Given the description of an element on the screen output the (x, y) to click on. 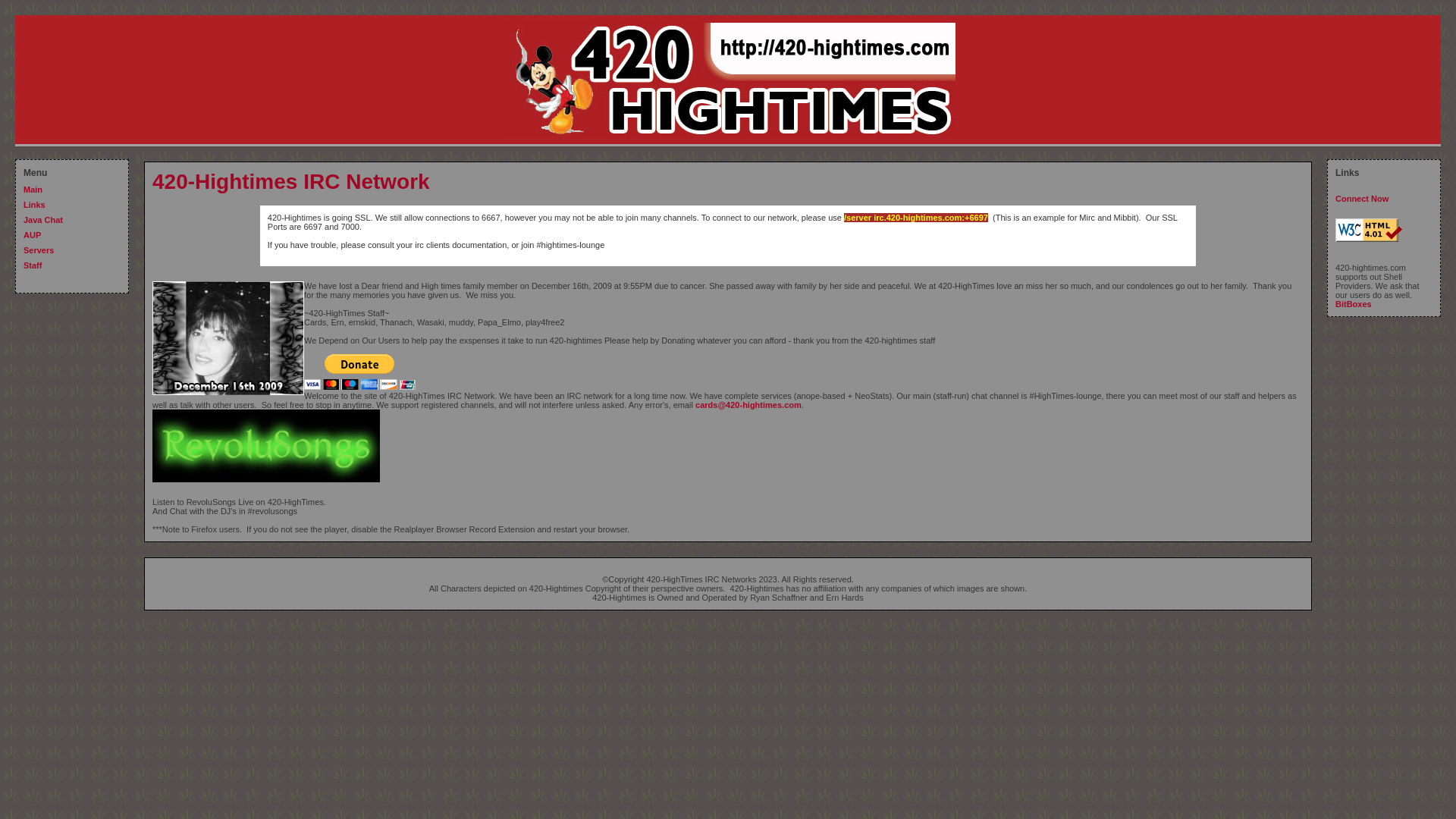
Java Chat Element type: text (42, 219)
AUP Element type: text (31, 234)
BitBoxes Element type: text (1353, 303)
Staff Element type: text (32, 264)
cards@420-hightimes.com Element type: text (748, 404)
Servers Element type: text (38, 249)
Connect Now Element type: text (1361, 198)
Main Element type: text (32, 189)
Links Element type: text (34, 204)
irc.420-hightimes.com:+6697 Element type: text (930, 217)
